Given the description of an element on the screen output the (x, y) to click on. 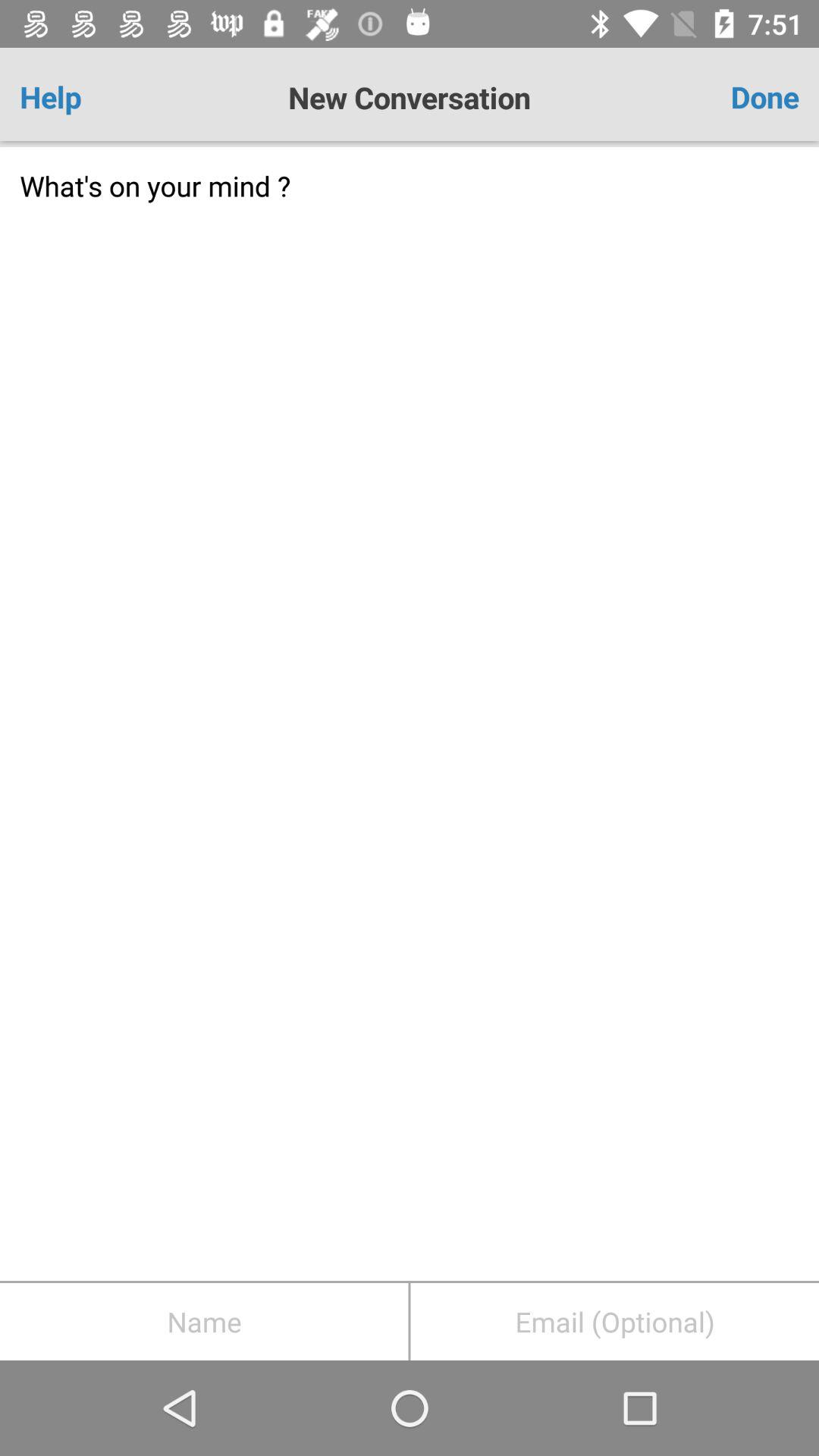
open the item to the right of the new conversation app (735, 97)
